Given the description of an element on the screen output the (x, y) to click on. 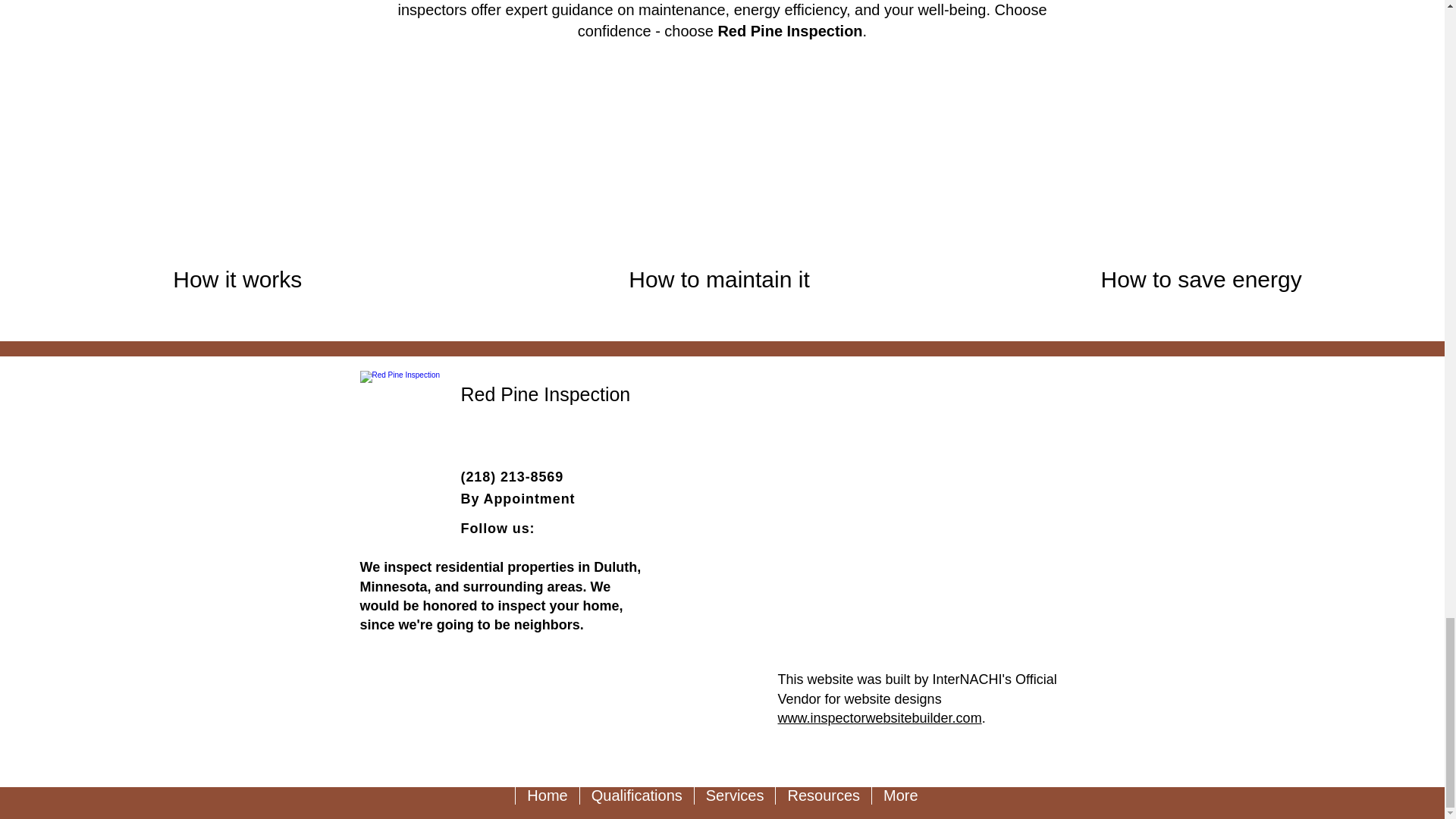
Home (546, 802)
www.inspectorwebsitebuilder.com (879, 717)
Services (735, 802)
Qualifications (636, 802)
